Given the description of an element on the screen output the (x, y) to click on. 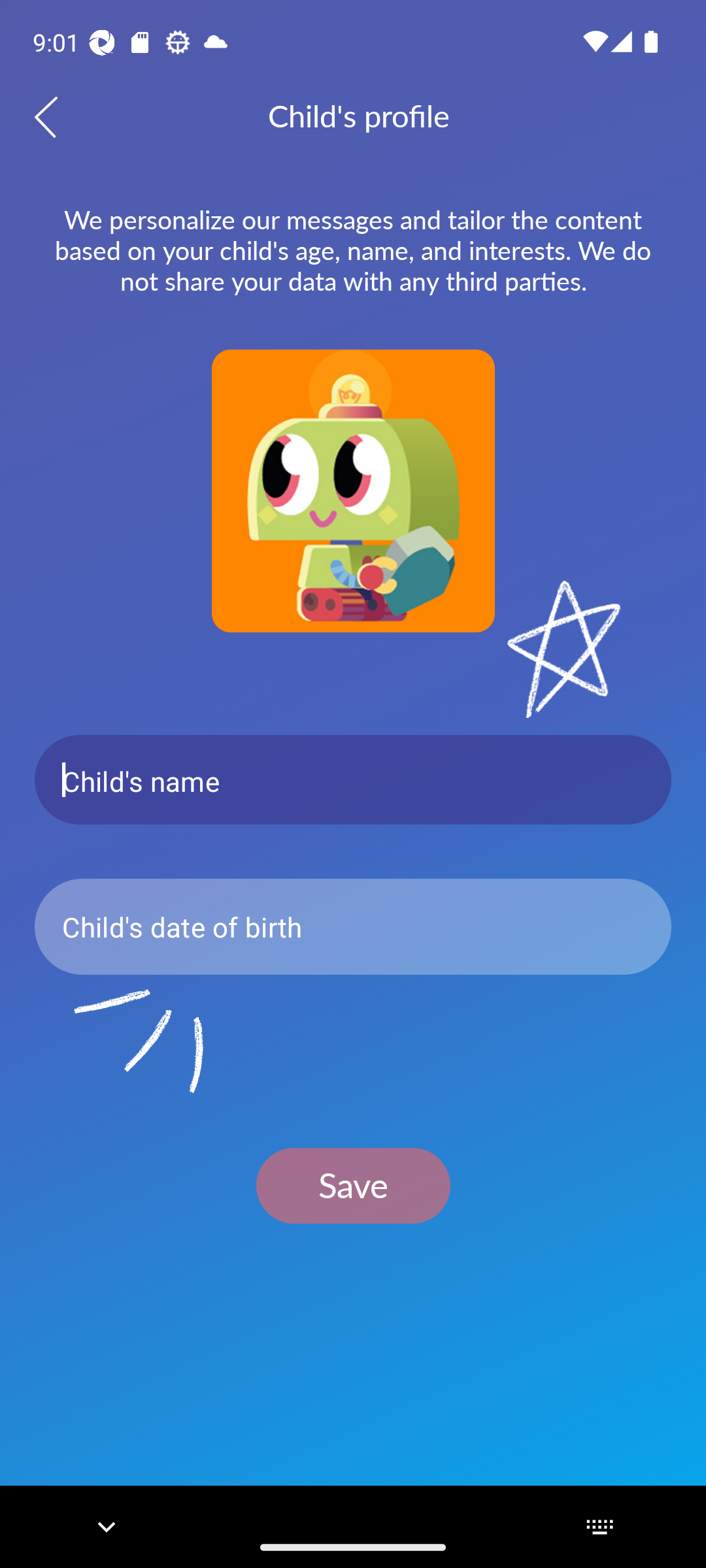
Child's name (352, 779)
Child's date of birth (352, 926)
Save (353, 1185)
